Given the description of an element on the screen output the (x, y) to click on. 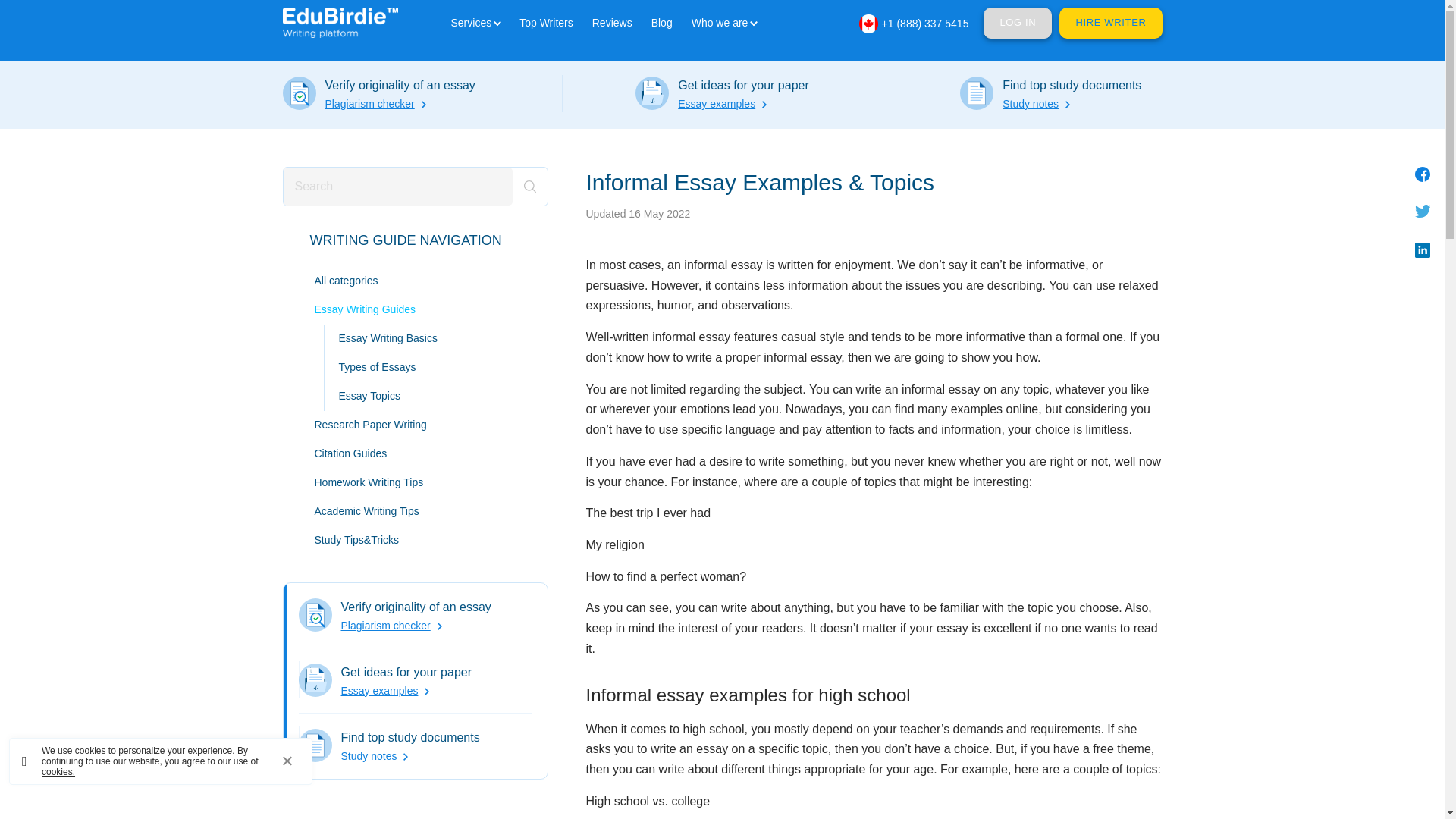
HIRE WRITER (1110, 22)
Blog (661, 22)
Top Writers (546, 22)
EduBirdie.com writing platform (339, 21)
Reviews (611, 22)
LOG IN (1017, 22)
